Given the description of an element on the screen output the (x, y) to click on. 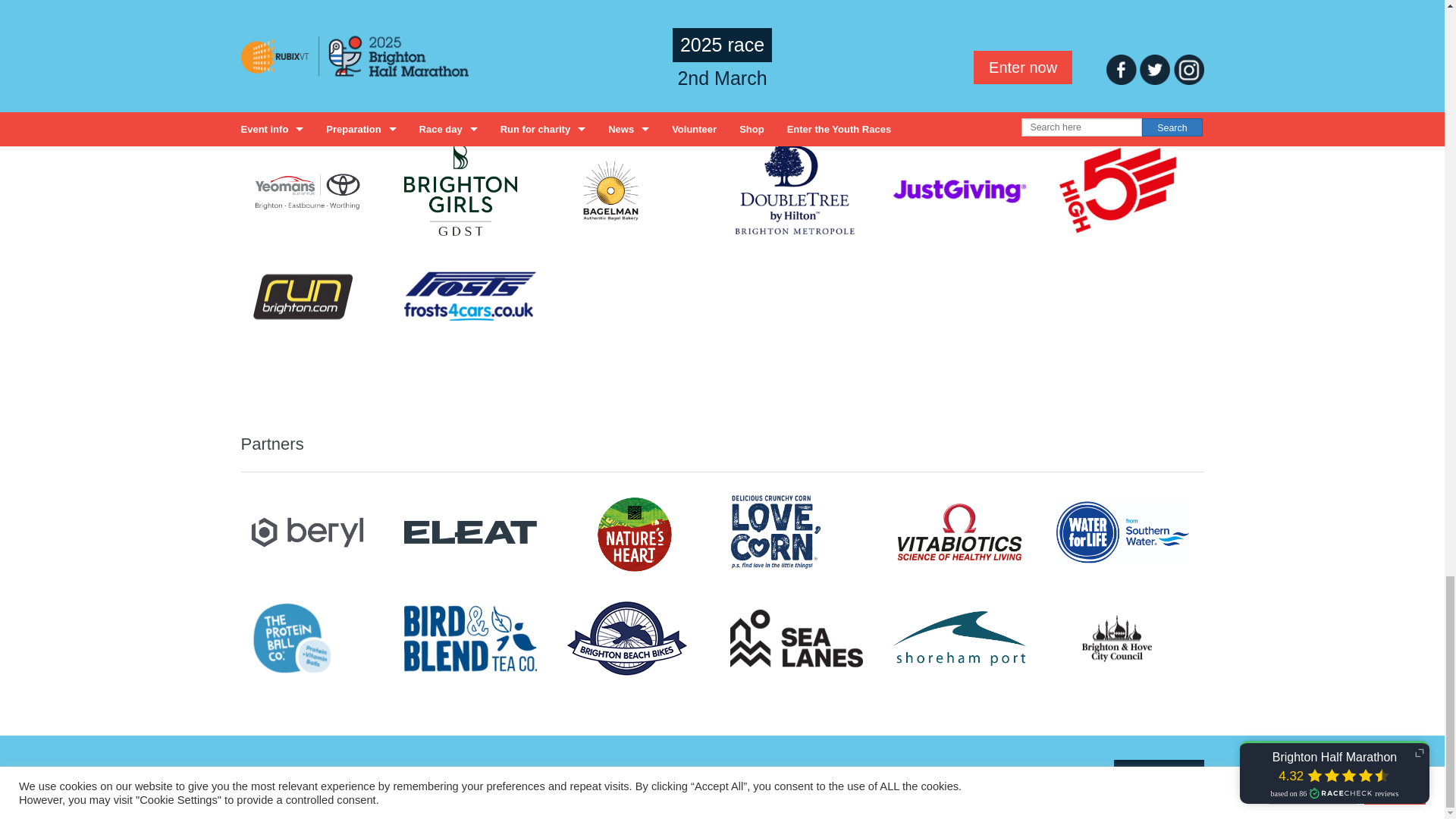
Brighton Girls GDST (459, 189)
HIGH5 (1116, 189)
Frosts (470, 296)
Run Brighton (301, 296)
Bagelman (610, 189)
DoubleTree by Hilton Brighton Metropole (794, 189)
Just Giving (959, 189)
Beryl Bikes (307, 531)
Yeomans Toyota (307, 189)
